Given the description of an element on the screen output the (x, y) to click on. 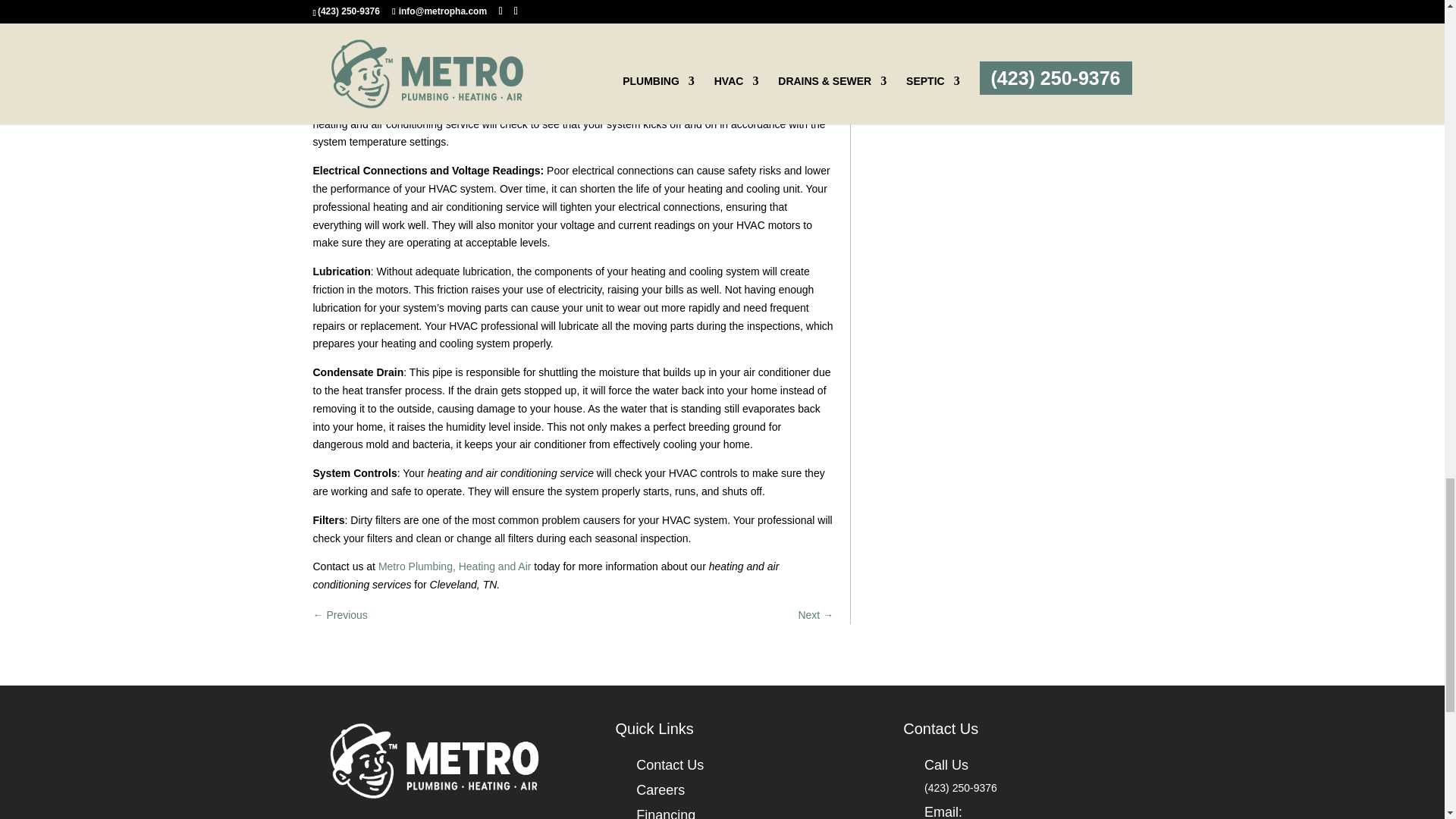
Metropha White Logo (433, 760)
